Given the description of an element on the screen output the (x, y) to click on. 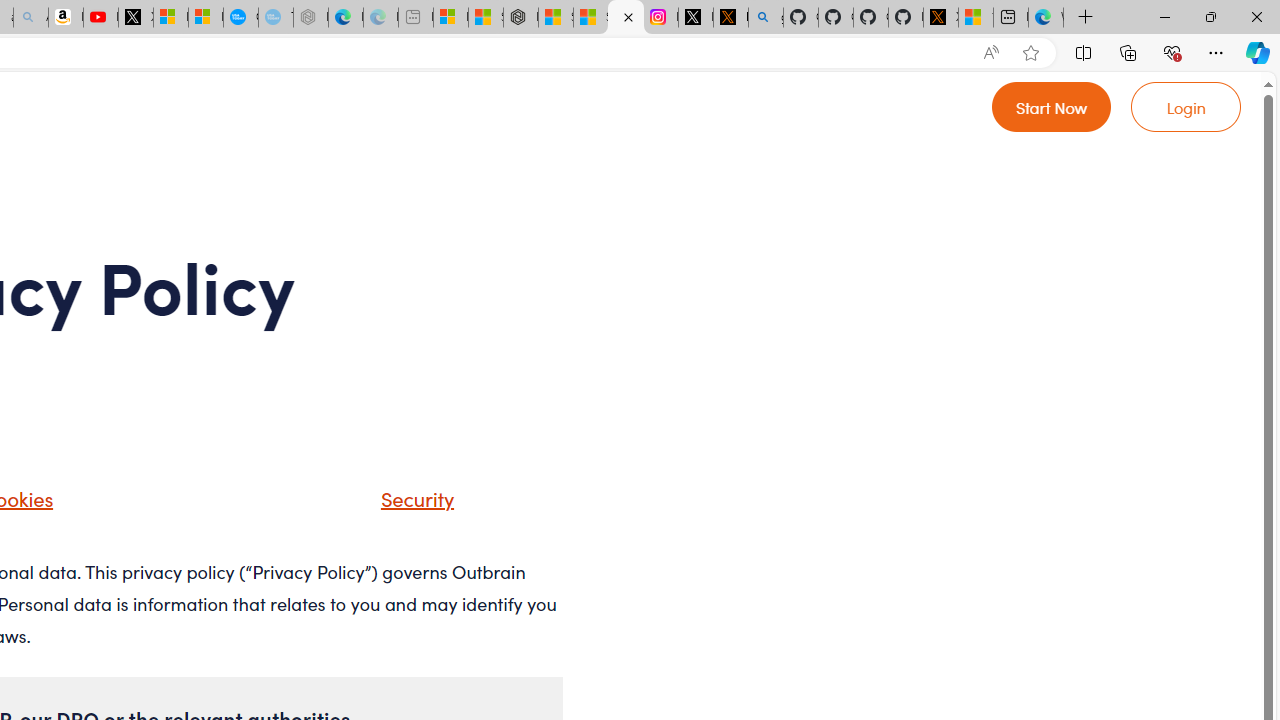
Nordace - Nordace has arrived Hong Kong - Sleeping (310, 17)
Nordace - Duffels (520, 17)
Amazon Echo Dot PNG - Search Images - Sleeping (31, 17)
Welcome to Microsoft Edge (1046, 17)
Go to Register (1051, 106)
